Given the description of an element on the screen output the (x, y) to click on. 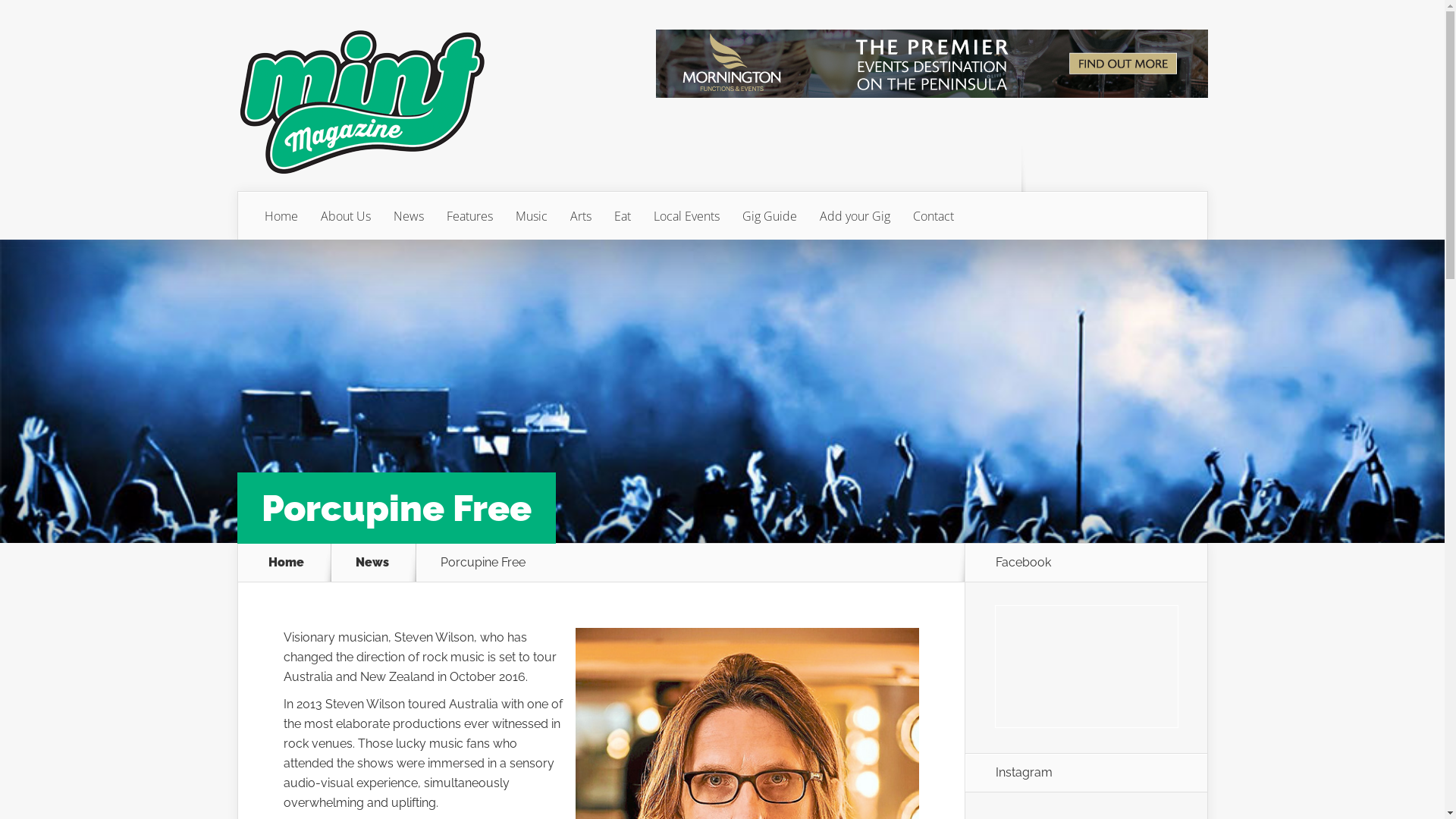
News Element type: text (380, 562)
Music Element type: text (530, 215)
Features Element type: text (469, 215)
News Element type: text (408, 215)
Arts Element type: text (580, 215)
Eat Element type: text (621, 215)
About Us Element type: text (345, 215)
Local Events Element type: text (685, 215)
Home Element type: text (286, 562)
Add your Gig Element type: text (854, 215)
Gig Guide Element type: text (769, 215)
Home Element type: text (281, 215)
Contact Element type: text (932, 215)
